Given the description of an element on the screen output the (x, y) to click on. 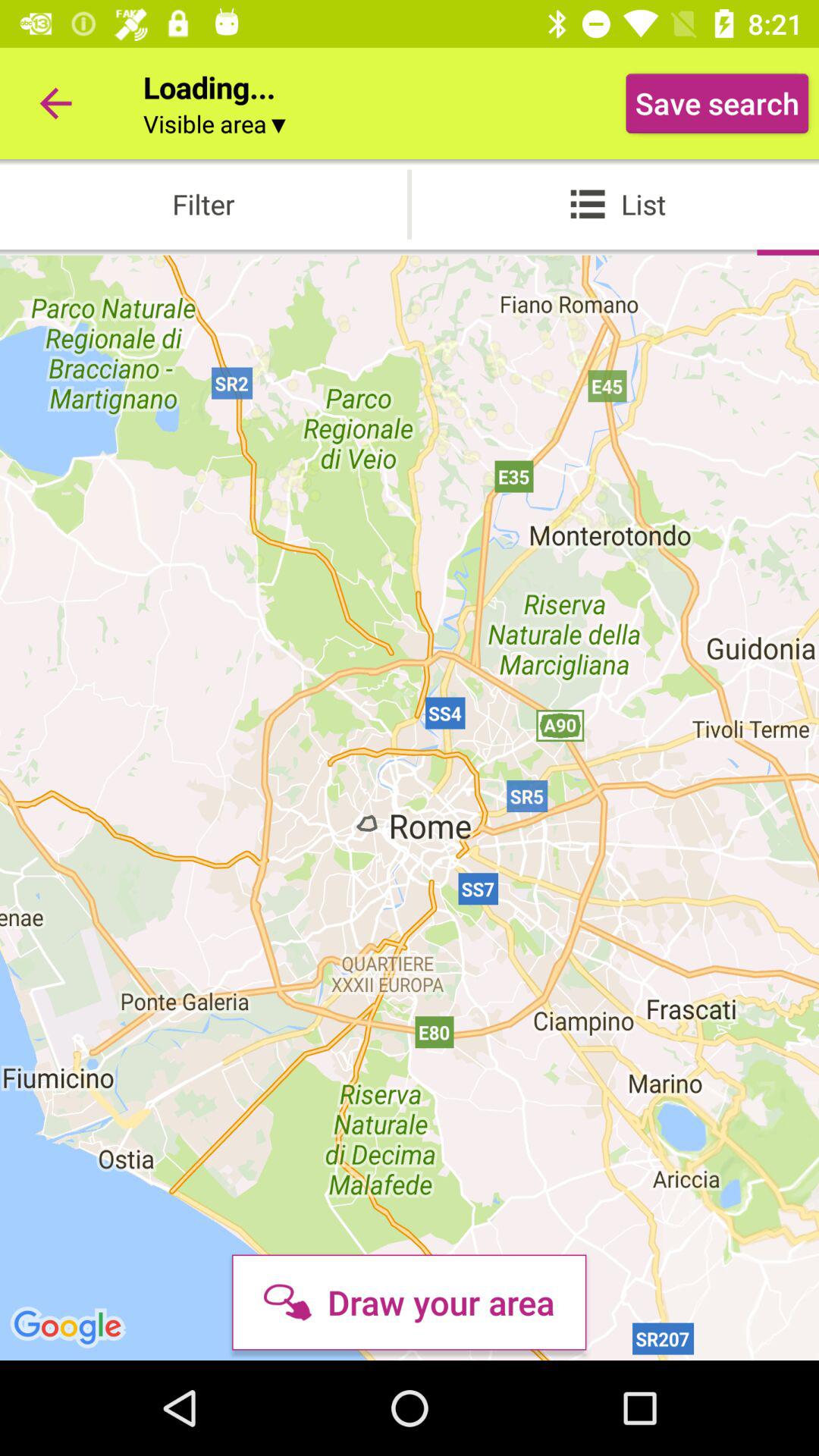
press the icon next to the loading... item (55, 103)
